Given the description of an element on the screen output the (x, y) to click on. 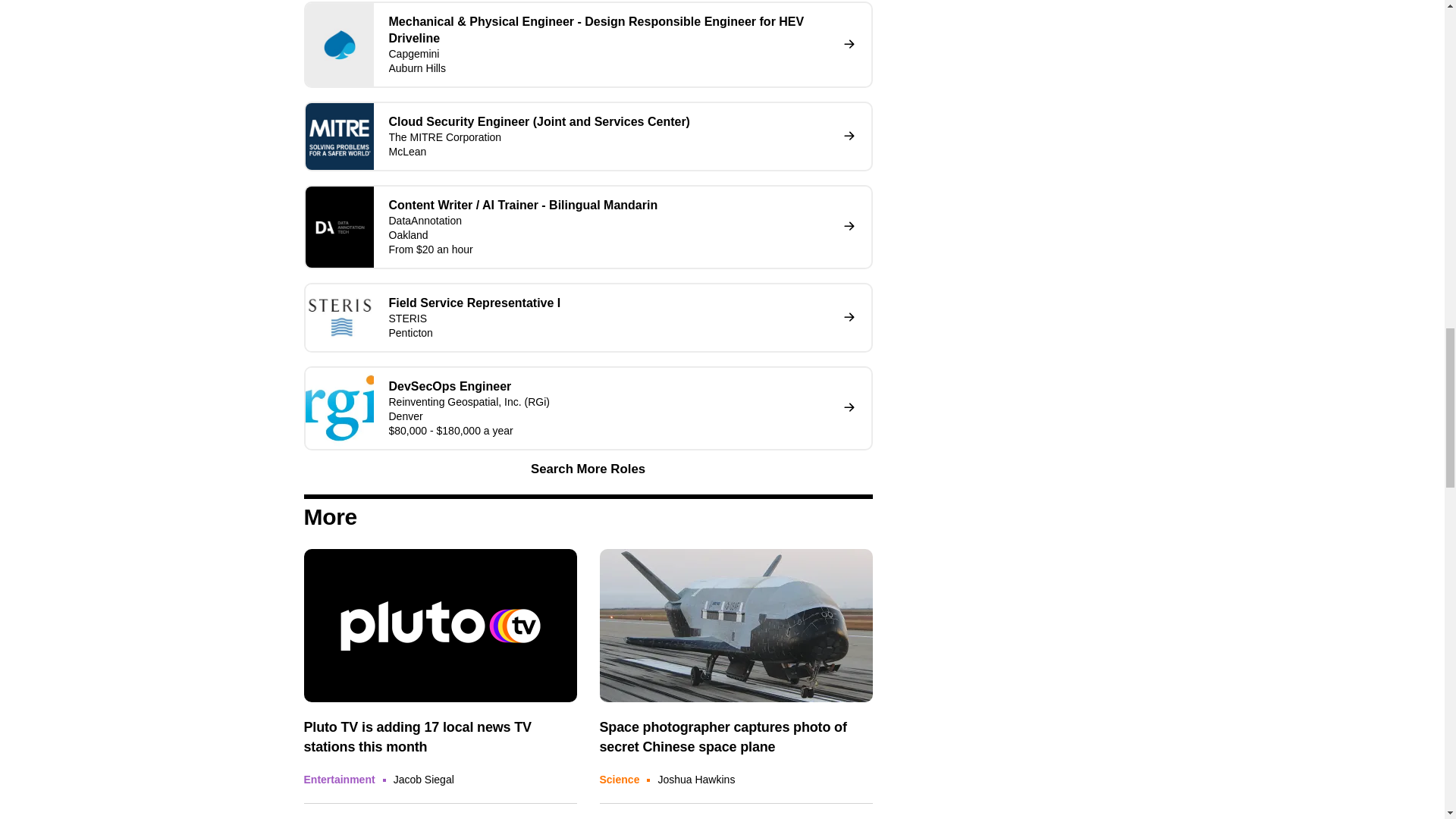
photo of Chinese space plane (735, 625)
Posts by Jacob Siegal (423, 779)
Pluto TV (439, 625)
Posts by Joshua Hawkins (696, 779)
